Given the description of an element on the screen output the (x, y) to click on. 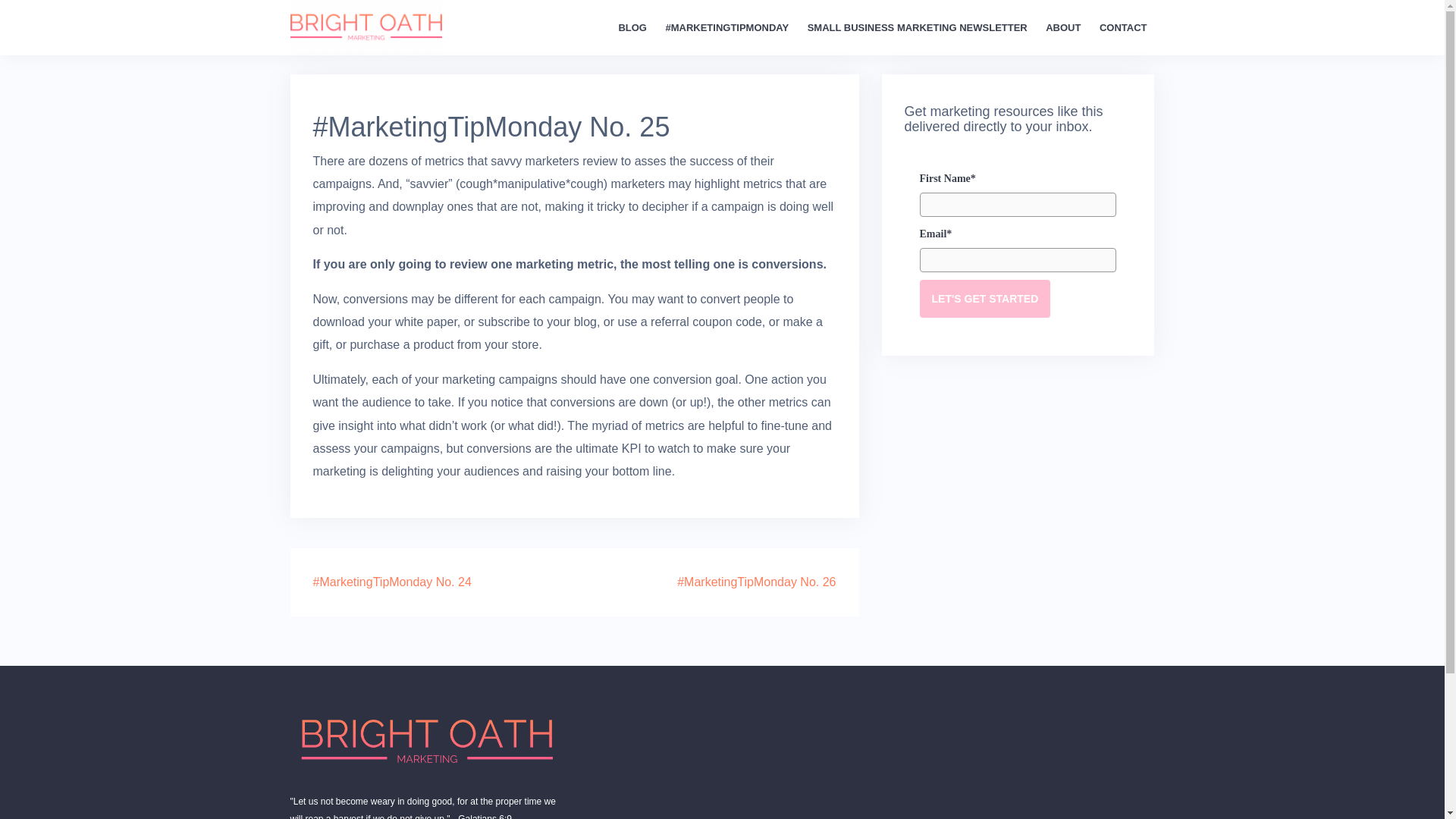
LET'S GET STARTED (983, 298)
ABOUT (1062, 27)
BLOG (631, 27)
CONTACT (1123, 27)
SMALL BUSINESS MARKETING NEWSLETTER (917, 27)
